Given the description of an element on the screen output the (x, y) to click on. 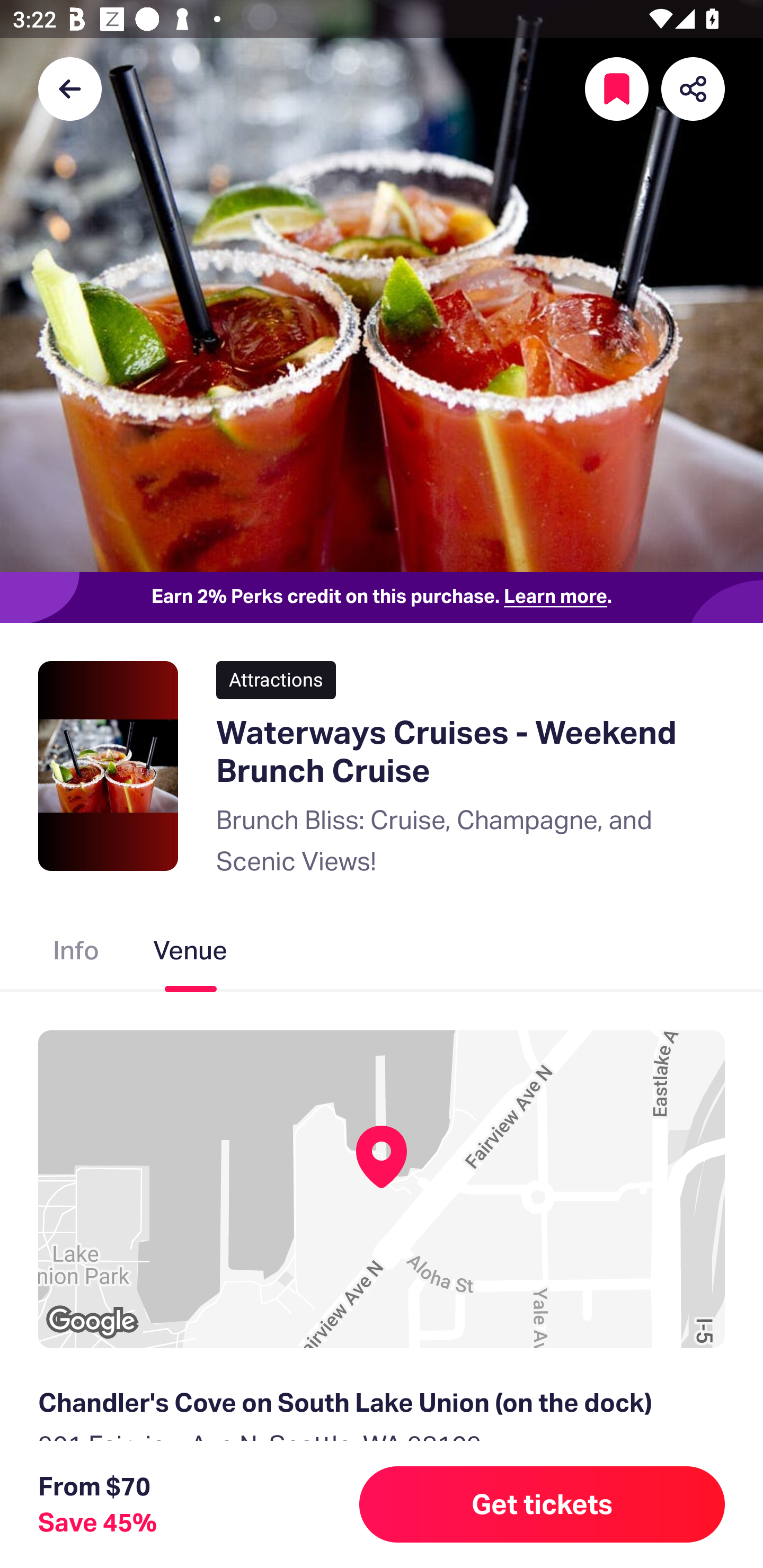
Earn 2% Perks credit on this purchase. Learn more. (381, 597)
Info (76, 953)
Get tickets (541, 1504)
Get directions (381, 1533)
